Given the description of an element on the screen output the (x, y) to click on. 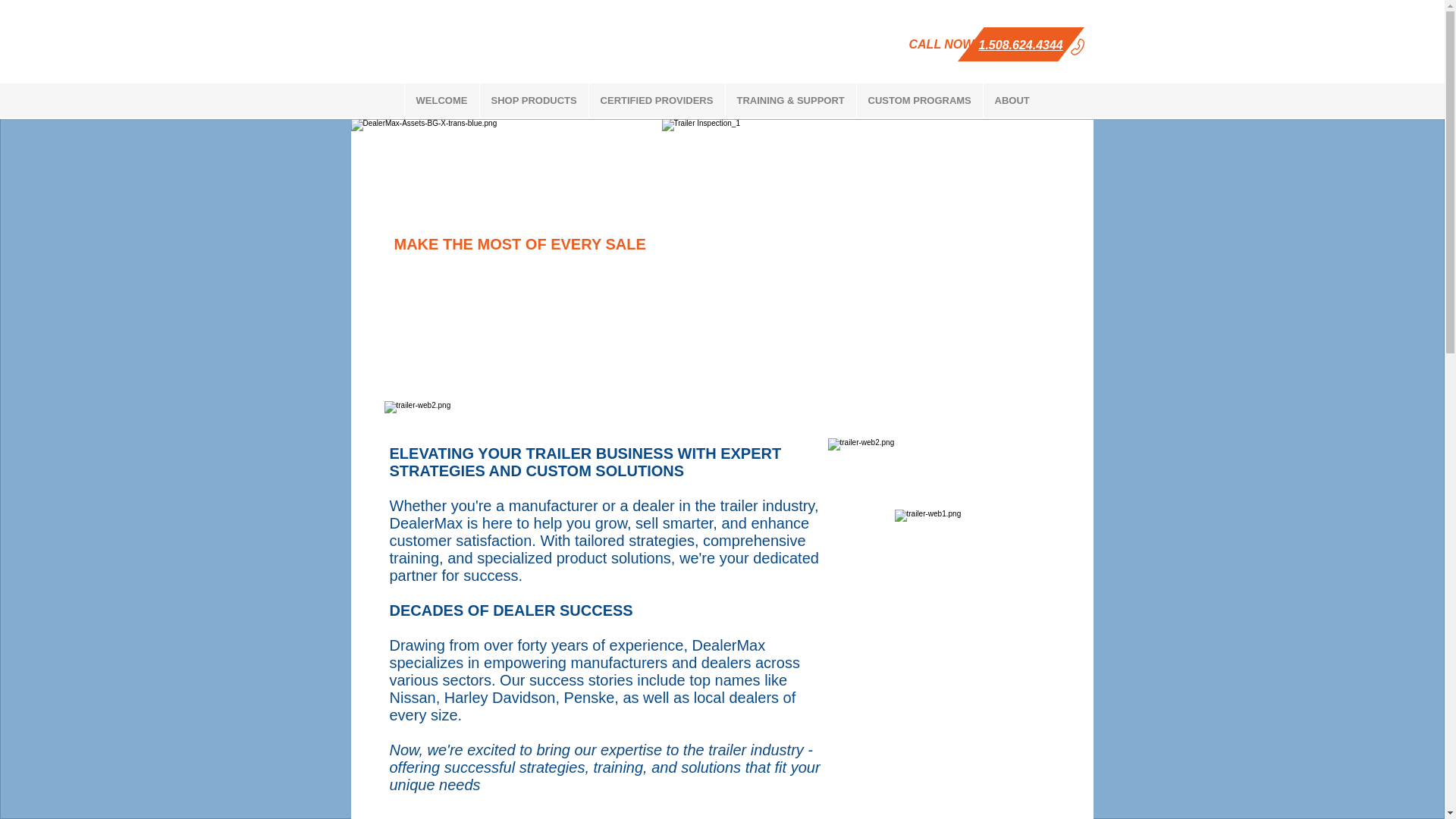
CERTIFIED PROVIDERS (656, 100)
1.508.624.4344 (1020, 44)
WELCOME (441, 100)
SHOP PRODUCTS (533, 100)
